Given the description of an element on the screen output the (x, y) to click on. 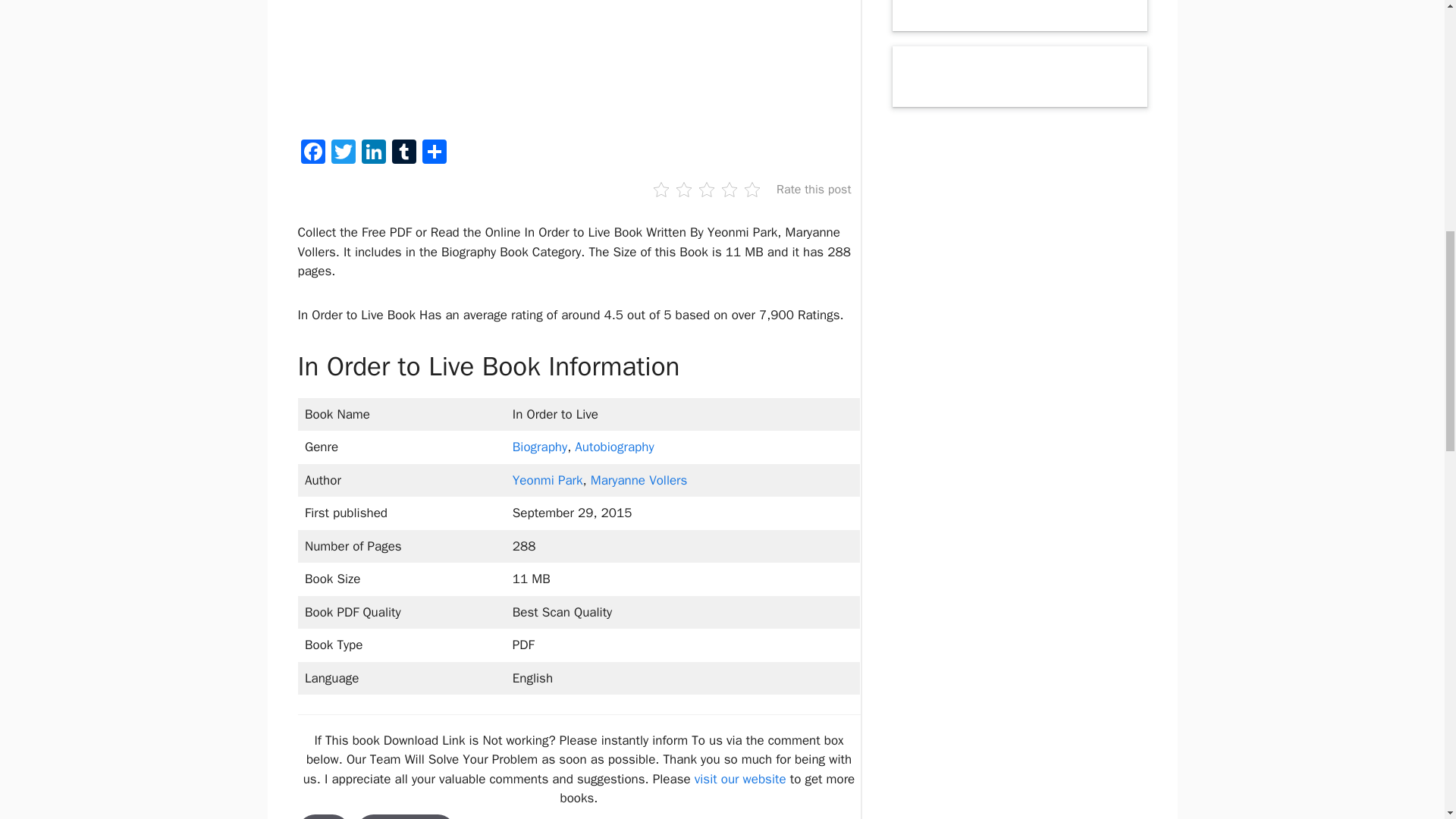
LinkedIn (373, 153)
Share (433, 153)
Advertisement (590, 63)
PDF (323, 816)
Tumblr (403, 153)
Maryanne Vollers (639, 480)
Read Online (405, 816)
Twitter (342, 153)
Biography (539, 446)
Facebook (312, 153)
LinkedIn (373, 153)
Twitter (342, 153)
Autobiography (614, 446)
Tumblr (403, 153)
visit our website (740, 779)
